Given the description of an element on the screen output the (x, y) to click on. 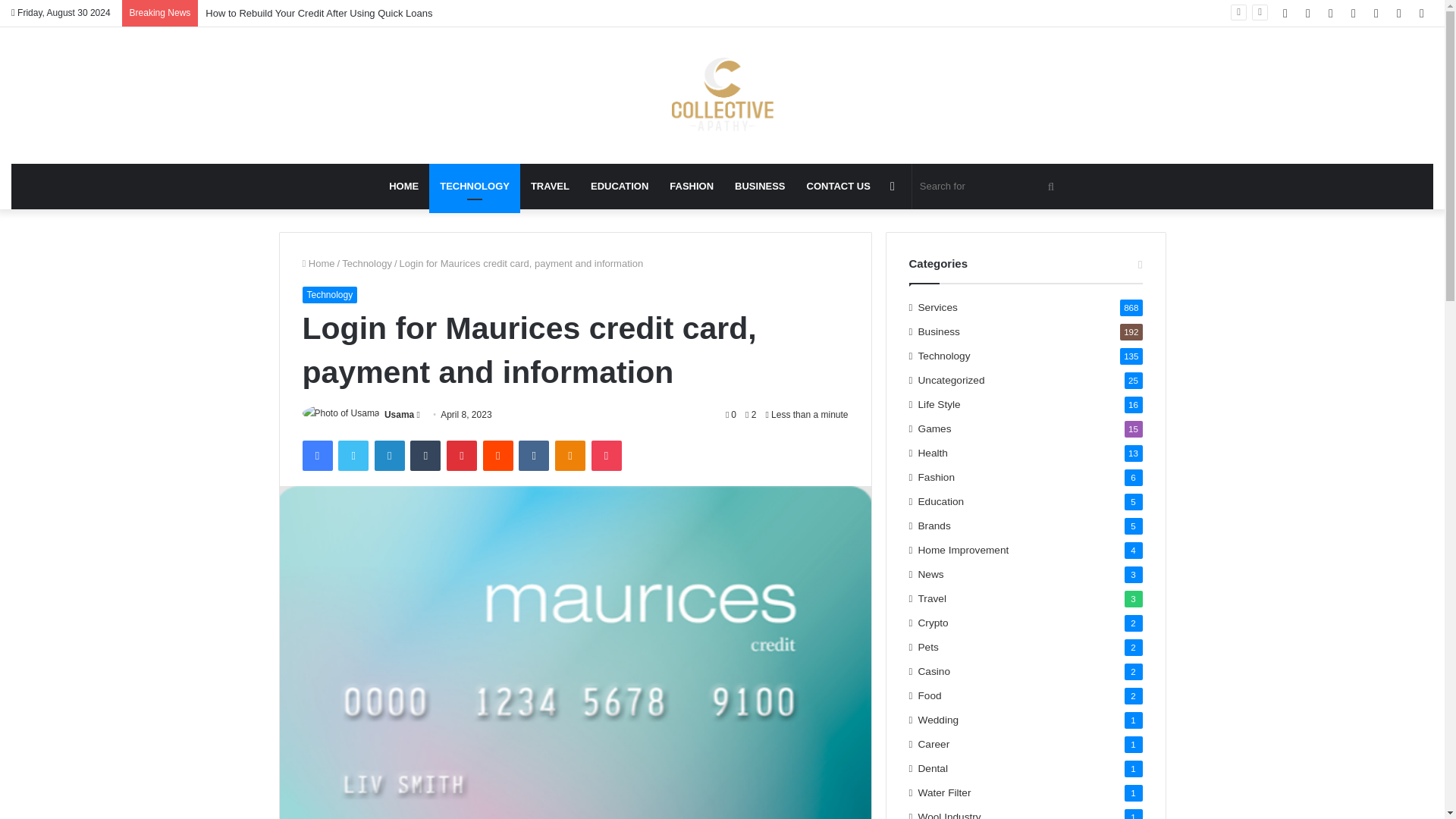
Technology (366, 263)
Odnoklassniki (569, 455)
LinkedIn (389, 455)
TRAVEL (549, 186)
Pocket (606, 455)
Facebook (316, 455)
Pocket (606, 455)
FASHION (691, 186)
TECHNOLOGY (474, 186)
Reddit (498, 455)
